Given the description of an element on the screen output the (x, y) to click on. 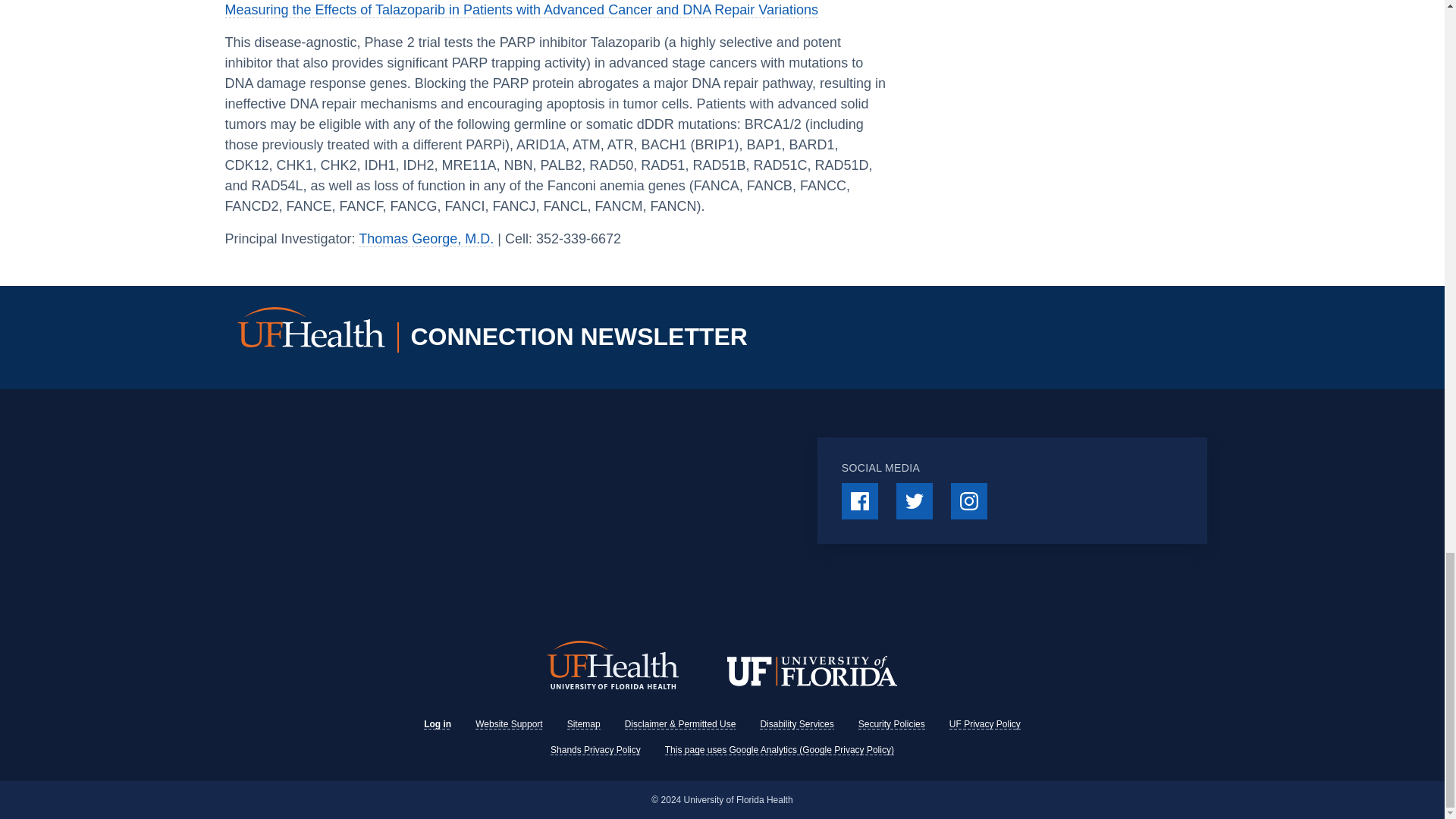
Sitemap (583, 724)
Log in (437, 724)
Instagram (968, 501)
Twitter (914, 501)
Facebook (859, 501)
Log in (437, 724)
UF Privacy Policy (984, 724)
Disability Services (796, 724)
CONNECTION NEWSLETTER (526, 337)
Security Policies (891, 724)
